Given the description of an element on the screen output the (x, y) to click on. 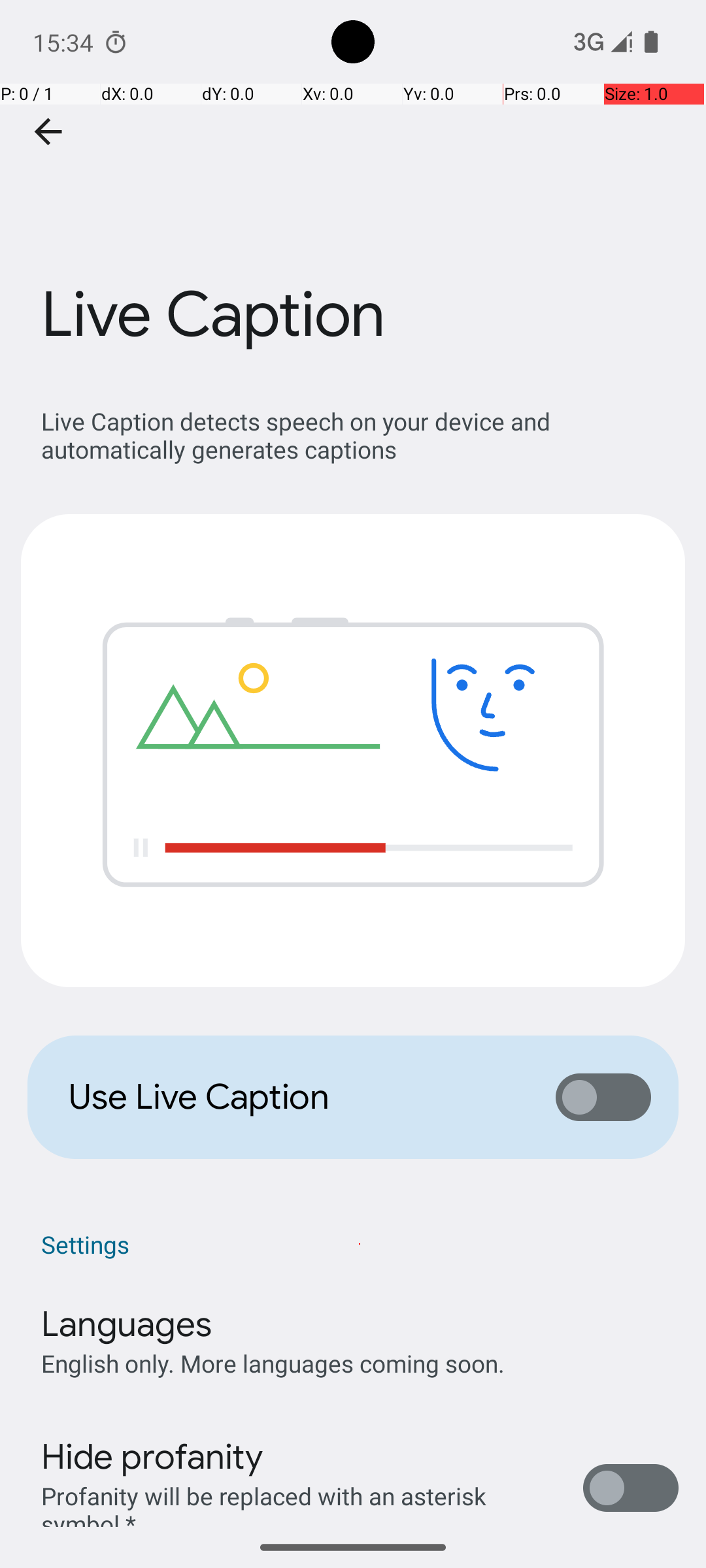
Live Caption detects speech on your device and automatically generates captions Element type: android.widget.TextView (359, 434)
Use Live Caption Element type: android.widget.TextView (298, 1096)
Languages Element type: android.widget.TextView (126, 1324)
English only. More languages coming soon. Element type: android.widget.TextView (272, 1362)
Hide profanity Element type: android.widget.TextView (151, 1456)
Profanity will be replaced with an asterisk symbol * Element type: android.widget.TextView (298, 1502)
